Given the description of an element on the screen output the (x, y) to click on. 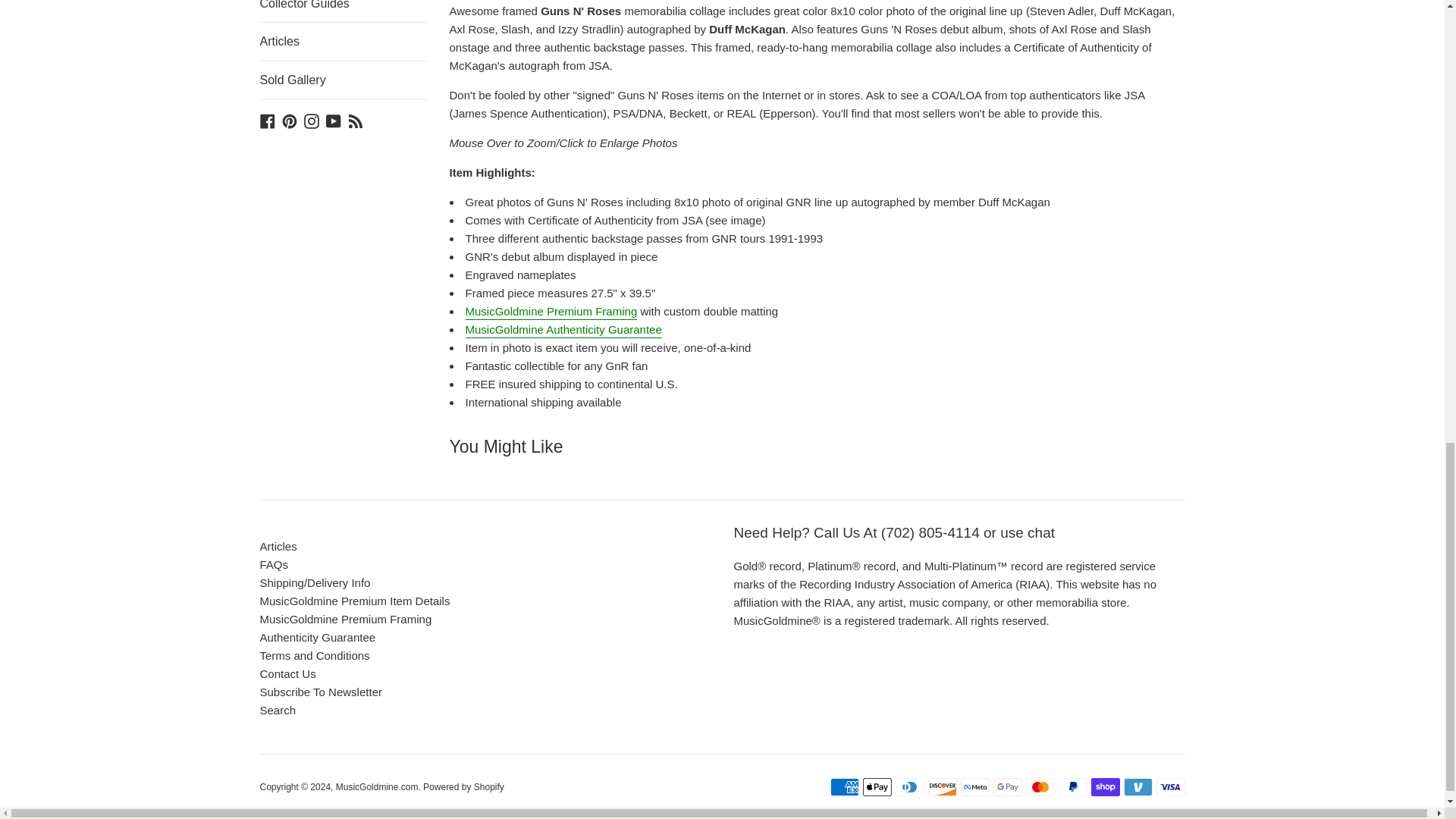
American Express (844, 787)
Discover (942, 787)
PayPal (1072, 787)
Venmo (1138, 787)
Facebook (267, 119)
MusicGoldmine.com on YouTube (333, 119)
Sold Gallery (342, 80)
Articles (342, 41)
Google Pay (1007, 787)
YouTube (333, 119)
MusicGoldmine.com on Instagram (311, 119)
Diners Club (909, 787)
Pinterest (289, 119)
Shop Pay (1104, 787)
Mastercard (1039, 787)
